Given the description of an element on the screen output the (x, y) to click on. 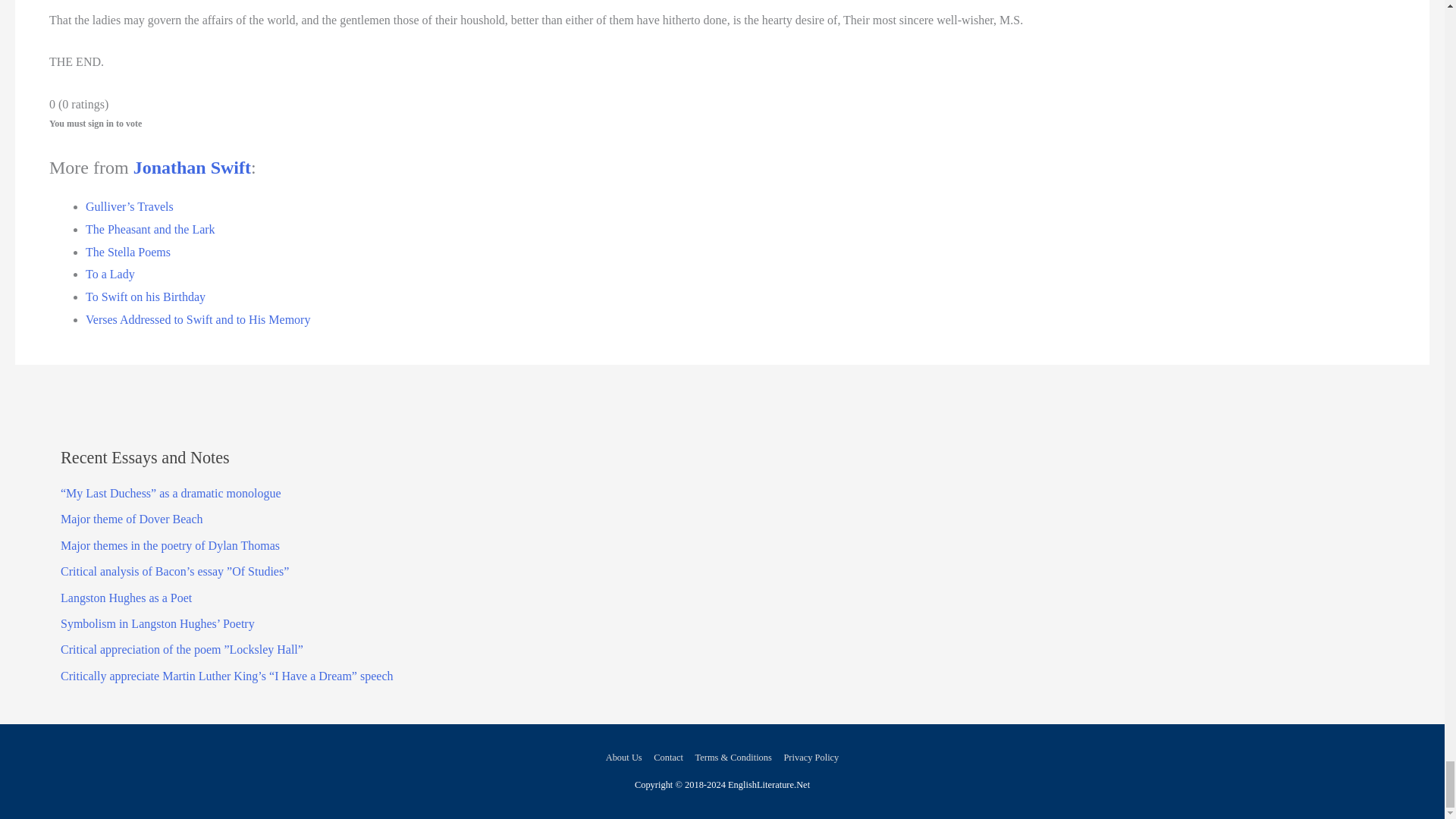
The Stella Poems (127, 251)
Verses Addressed to Swift and to His Memory (197, 318)
To Swift on his Birthday (145, 296)
Major themes in the poetry of Dylan Thomas (170, 545)
Langston Hughes as a Poet (126, 597)
The Pheasant and the Lark (150, 228)
Major theme of Dover Beach (131, 518)
Privacy Policy (808, 757)
Jonathan Swift (191, 167)
Contact (668, 757)
About Us (625, 757)
To a Lady (110, 273)
